Given the description of an element on the screen output the (x, y) to click on. 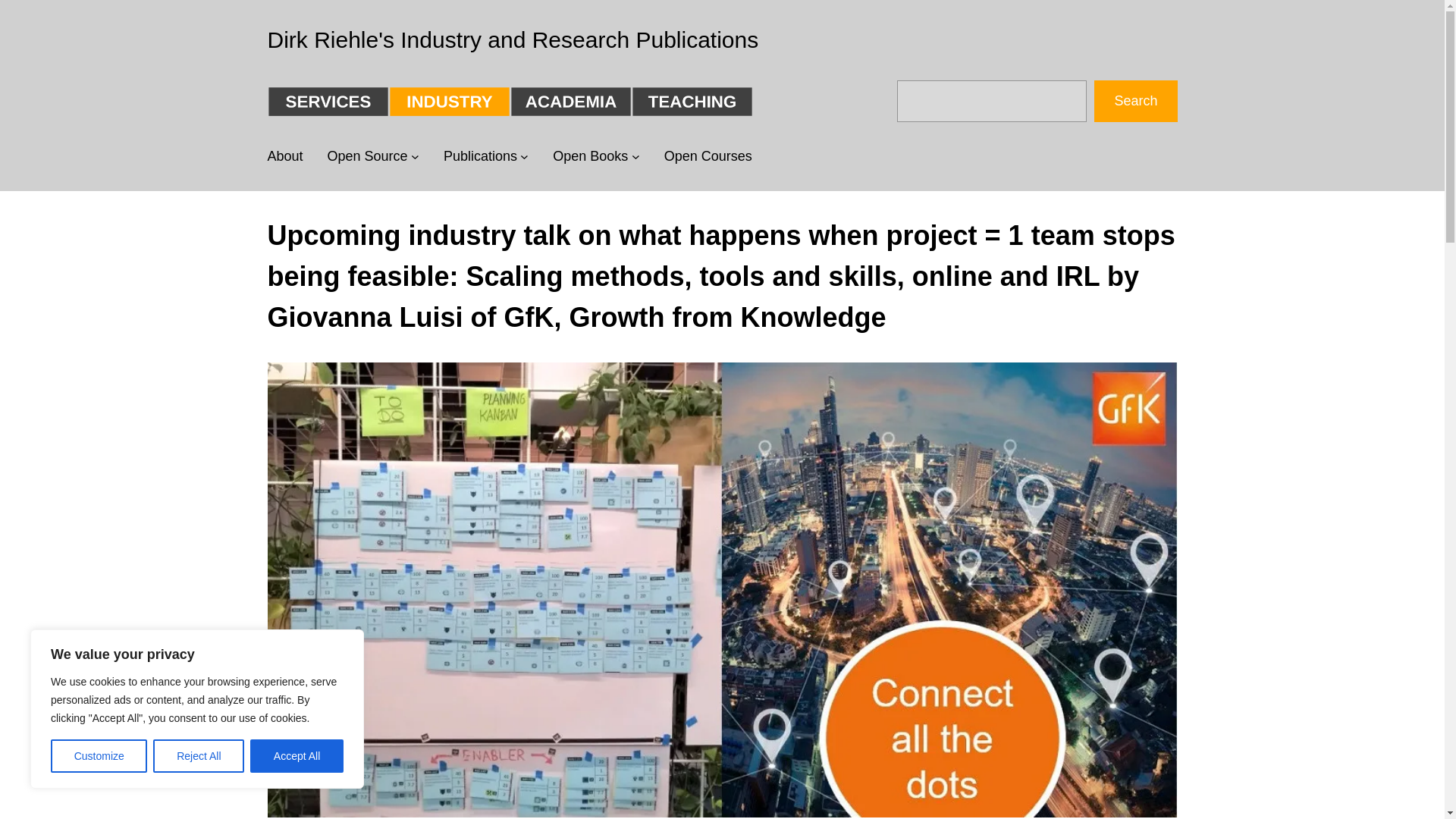
Open Source (367, 156)
Dirk Riehle's Industry and Research Publications (512, 39)
Publications (480, 156)
Search (1135, 101)
About (284, 156)
